Given the description of an element on the screen output the (x, y) to click on. 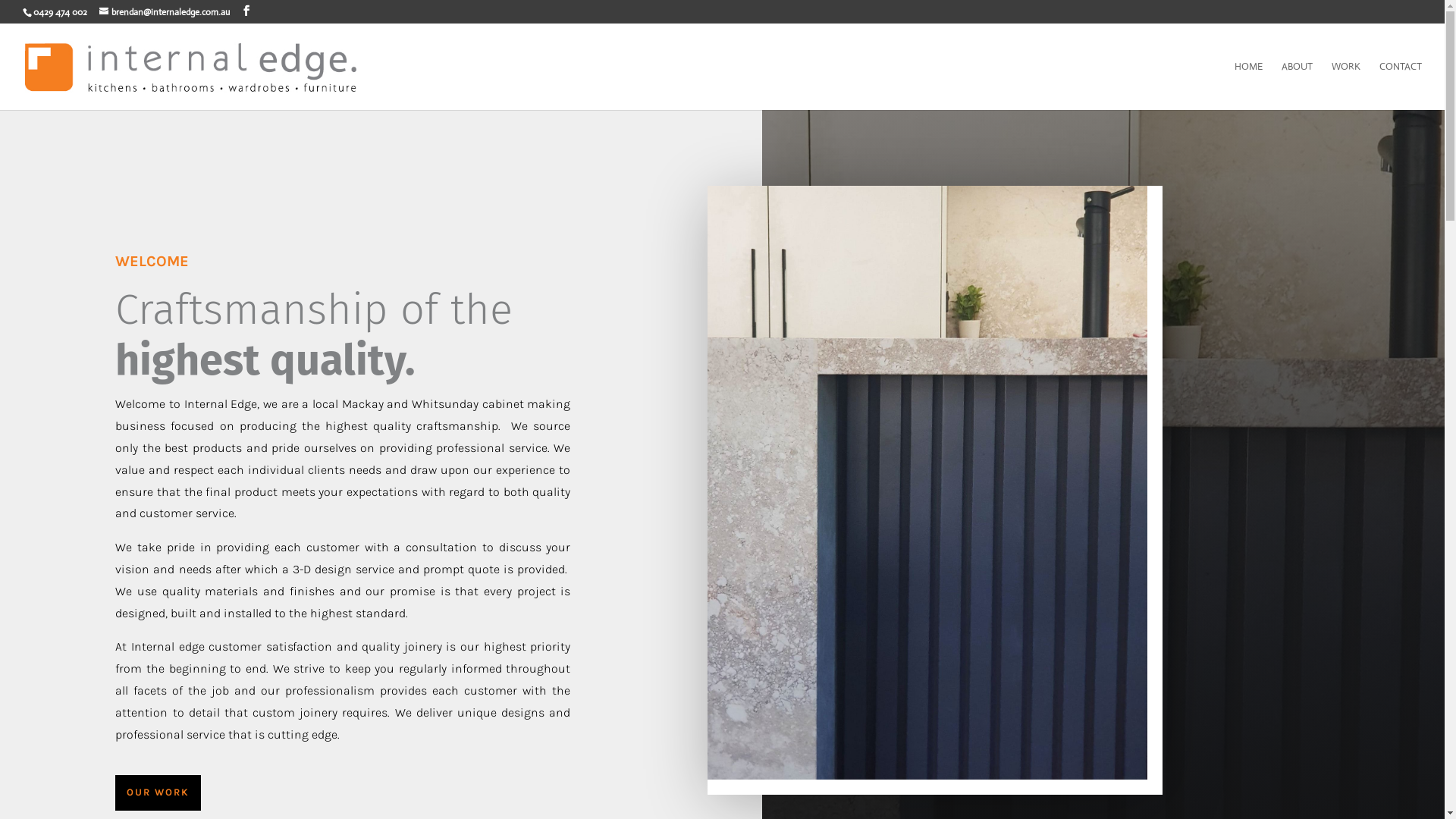
HOME Element type: text (1248, 85)
kitchen1 Element type: hover (927, 482)
WORK Element type: text (1345, 85)
ABOUT Element type: text (1296, 85)
OUR WORK Element type: text (157, 792)
brendan@internaledge.com.au Element type: text (164, 12)
CONTACT Element type: text (1400, 85)
